Given the description of an element on the screen output the (x, y) to click on. 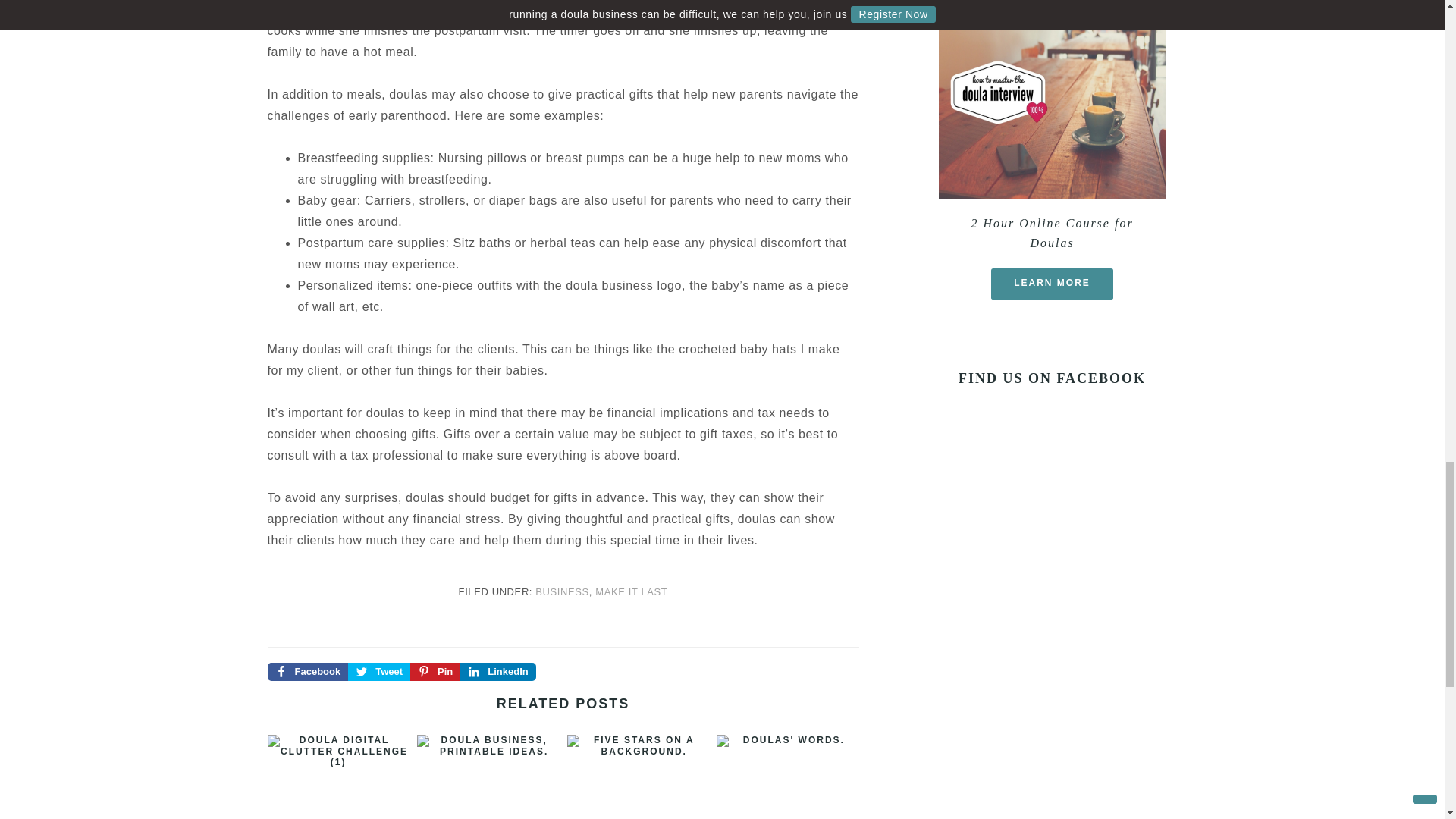
Share on LinkedIn (497, 671)
MAKE IT LAST (630, 591)
HOW TO GET DOULA REVIEWS (638, 776)
BUSINESS (562, 591)
Facebook (306, 671)
LinkedIn (497, 671)
THE THINGS THAT DOULAS SAY (787, 776)
DOULA DIGITAL CLUTTER CHALLENGE (337, 776)
Tweet (378, 671)
